Given the description of an element on the screen output the (x, y) to click on. 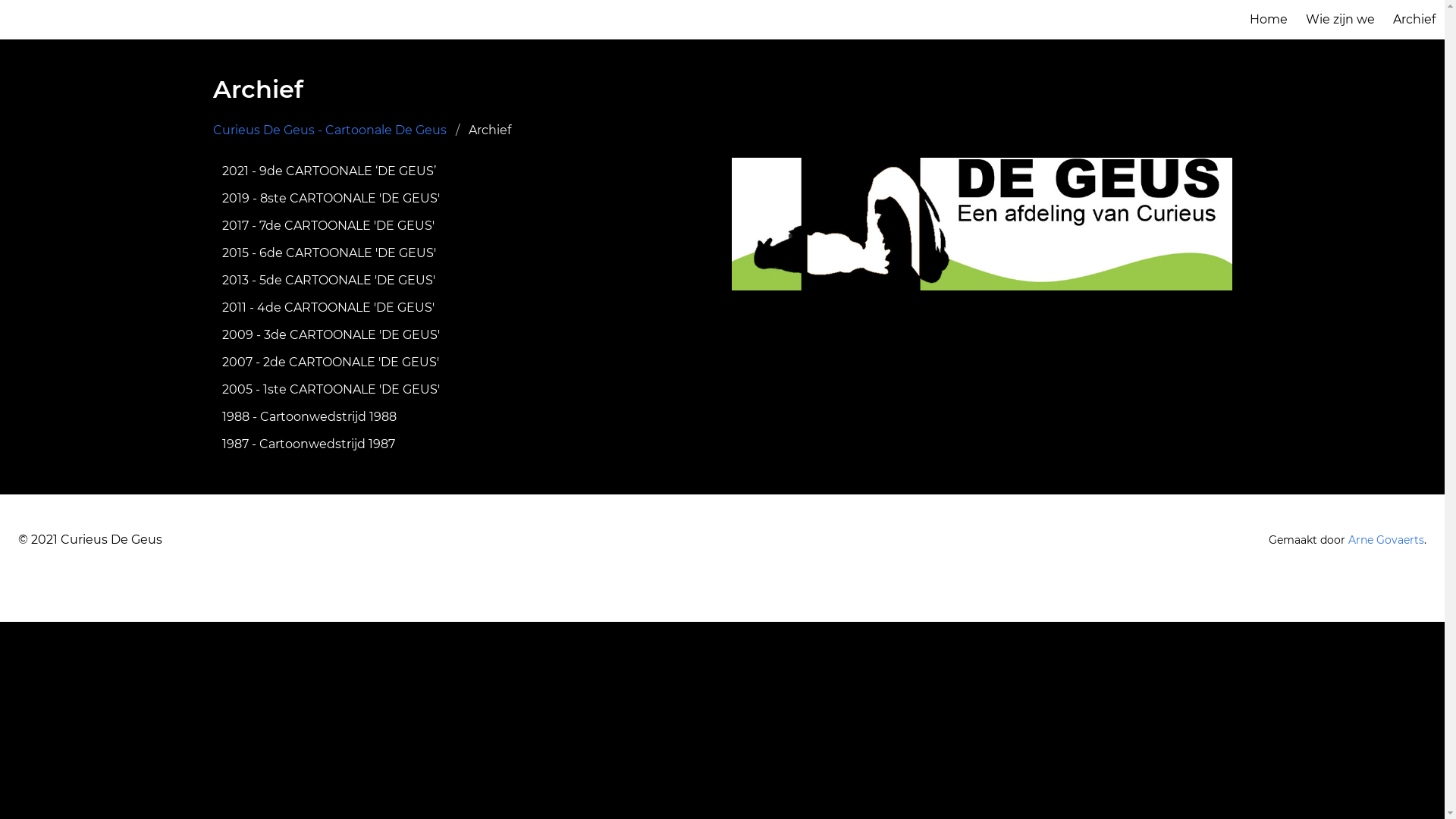
2017 - 7de CARTOONALE 'DE GEUS' Element type: text (462, 225)
Arne Govaerts Element type: text (1386, 539)
2011 - 4de CARTOONALE 'DE GEUS' Element type: text (462, 307)
2015 - 6de CARTOONALE 'DE GEUS' Element type: text (462, 252)
Wie zijn we Element type: text (1339, 19)
Archief Element type: text (1413, 19)
1988 - Cartoonwedstrijd 1988 Element type: text (462, 416)
2007 - 2de CARTOONALE 'DE GEUS' Element type: text (462, 362)
2013 - 5de CARTOONALE 'DE GEUS' Element type: text (462, 280)
1987 - Cartoonwedstrijd 1987 Element type: text (462, 444)
2019 - 8ste CARTOONALE 'DE GEUS' Element type: text (462, 198)
Curieus De Geus - Cartoonale De Geus Element type: text (333, 130)
Archief Element type: text (489, 130)
2009 - 3de CARTOONALE 'DE GEUS' Element type: text (462, 334)
2005 - 1ste CARTOONALE 'DE GEUS' Element type: text (462, 389)
Home Element type: text (1268, 19)
